Given the description of an element on the screen output the (x, y) to click on. 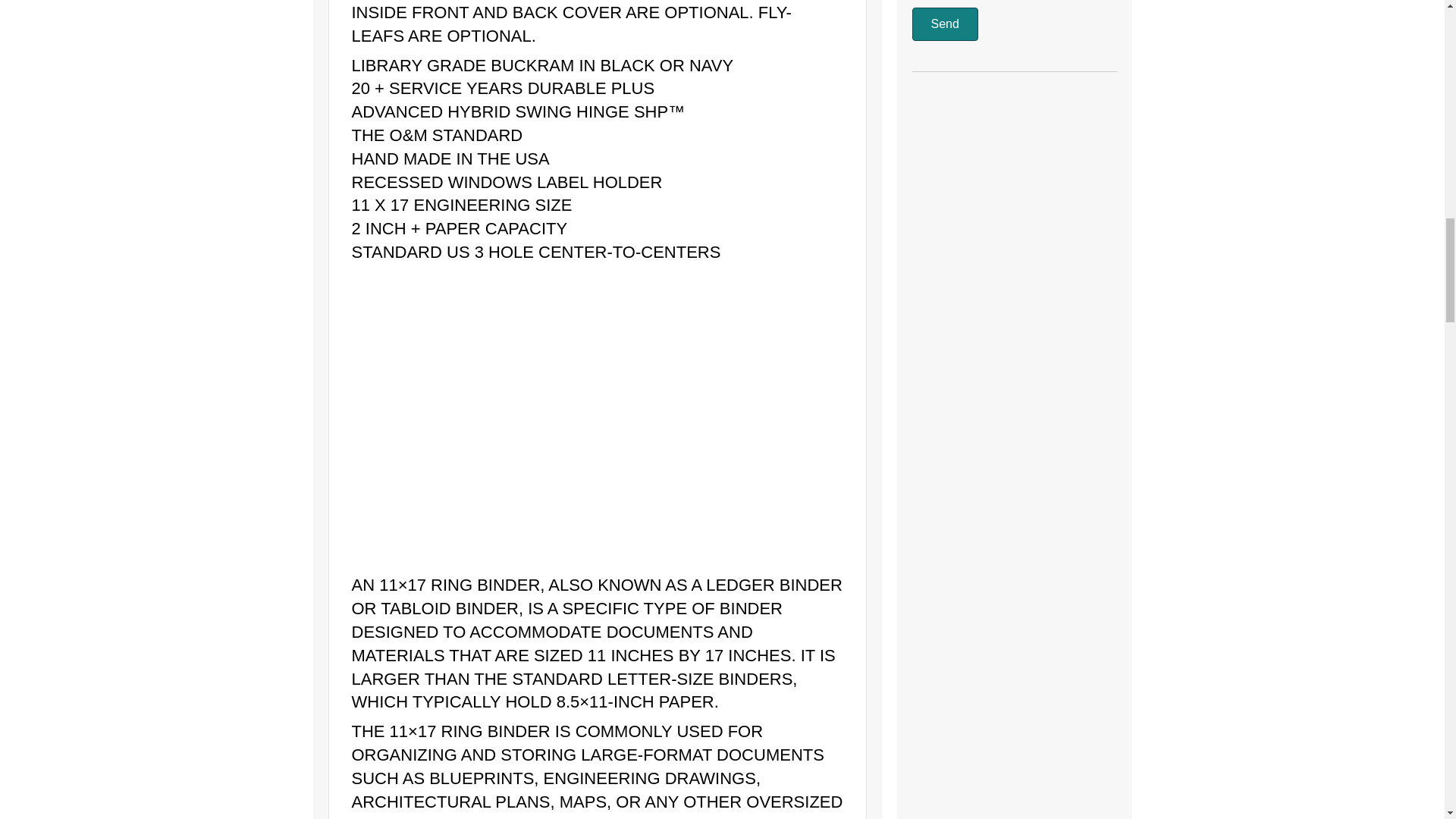
SHP Binder (541, 413)
